Given the description of an element on the screen output the (x, y) to click on. 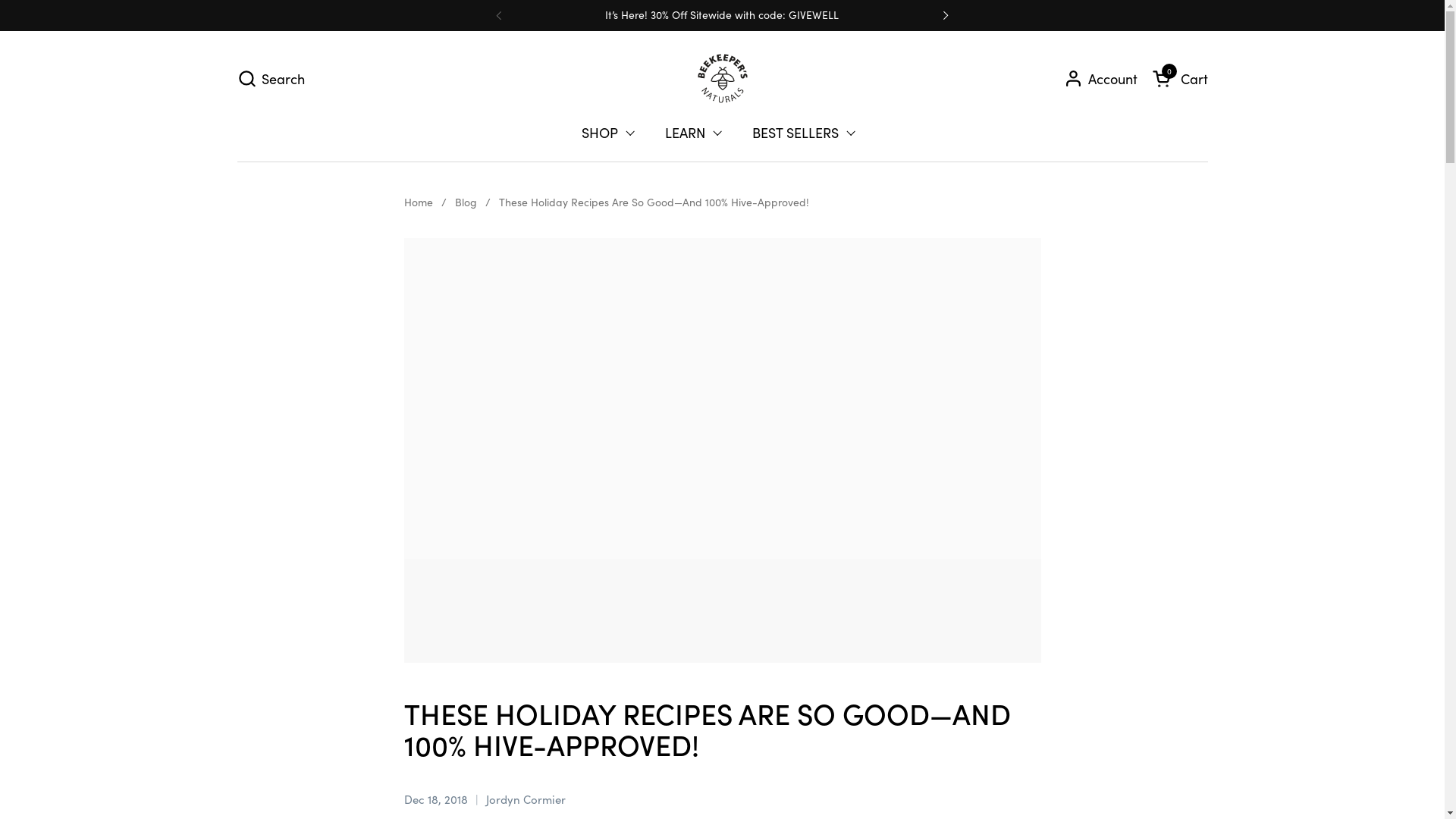
Open cart
Cart
0 Element type: text (1180, 78)
LEARN Element type: text (693, 132)
Free Shipping on Orders $60+ Element type: text (1168, 14)
BEST SELLERS Element type: text (803, 132)
Home Element type: text (417, 202)
SHOP Element type: text (607, 132)
Blog Element type: text (465, 202)
Skip to content Element type: text (0, 0)
Account Element type: text (1099, 78)
Beekeeper's Naturals (CAD) Element type: hover (721, 78)
Search Element type: text (270, 78)
